Given the description of an element on the screen output the (x, y) to click on. 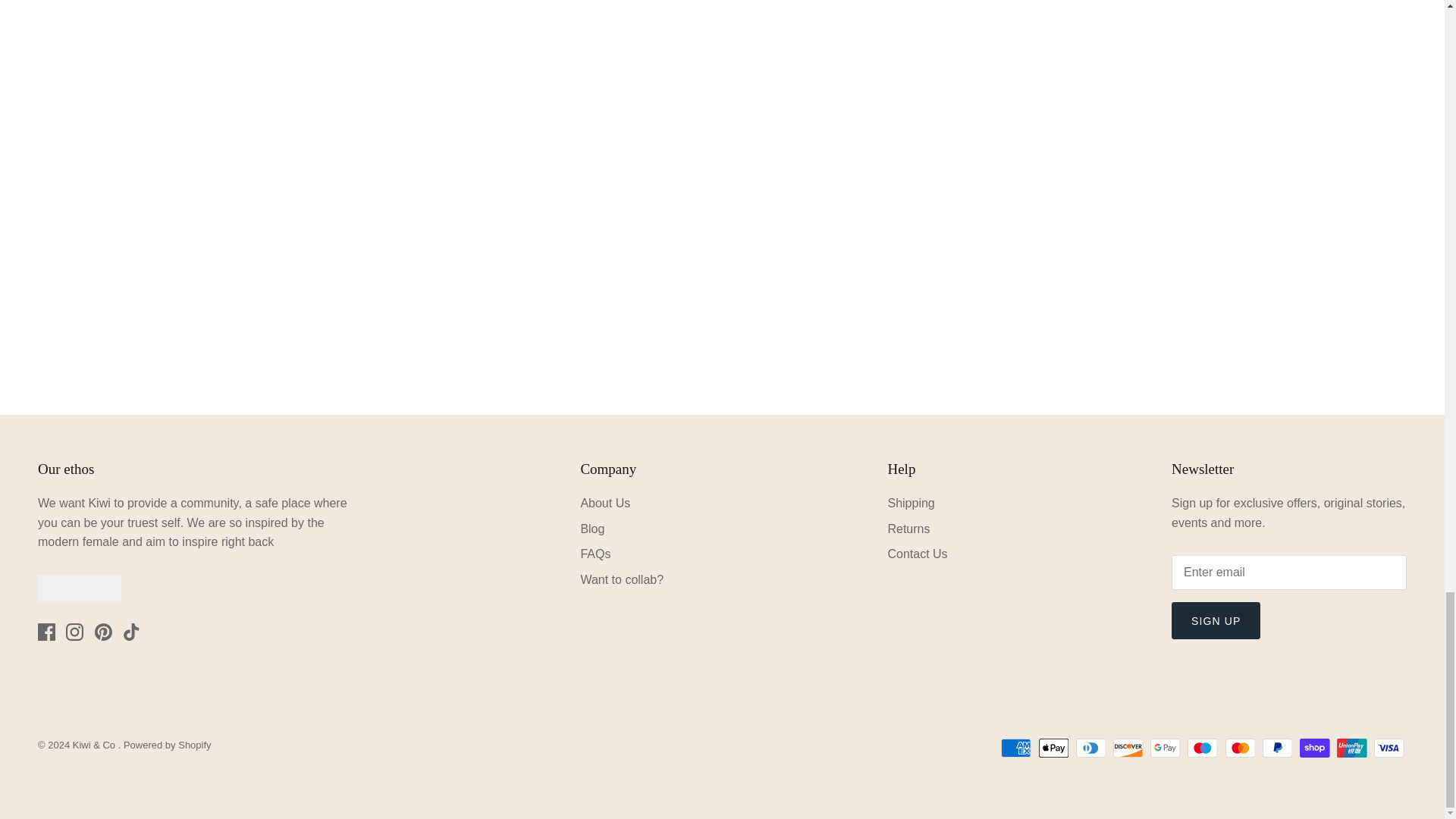
Maestro (1202, 747)
Google Pay (1165, 747)
Pinterest (103, 631)
Diners Club (1090, 747)
Mastercard (1240, 747)
Discover (1127, 747)
Apple Pay (1053, 747)
PayPal (1277, 747)
Facebook (46, 631)
Instagram (73, 631)
Shop Pay (1314, 747)
American Express (1015, 747)
